Given the description of an element on the screen output the (x, y) to click on. 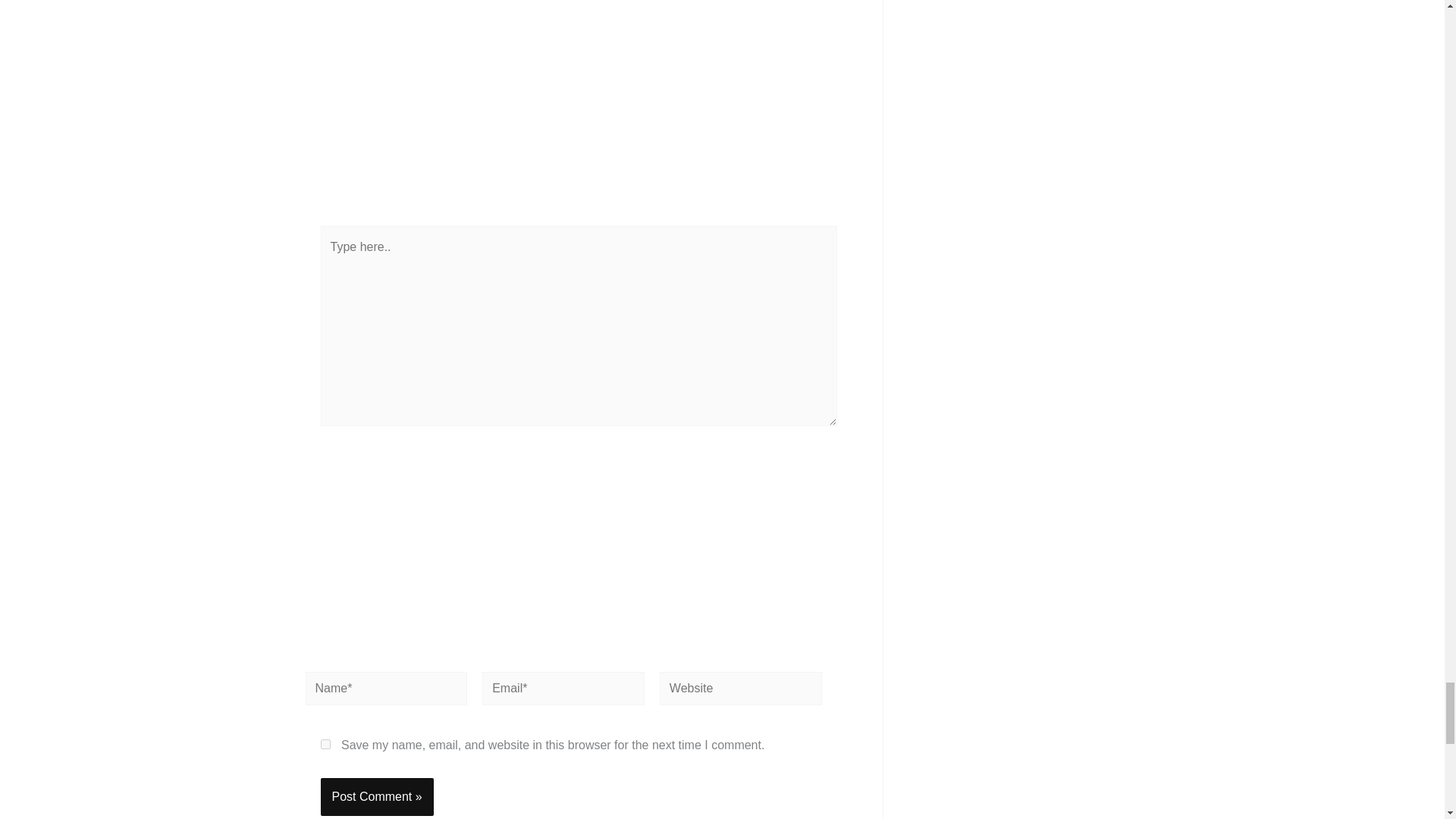
yes (325, 744)
